Given the description of an element on the screen output the (x, y) to click on. 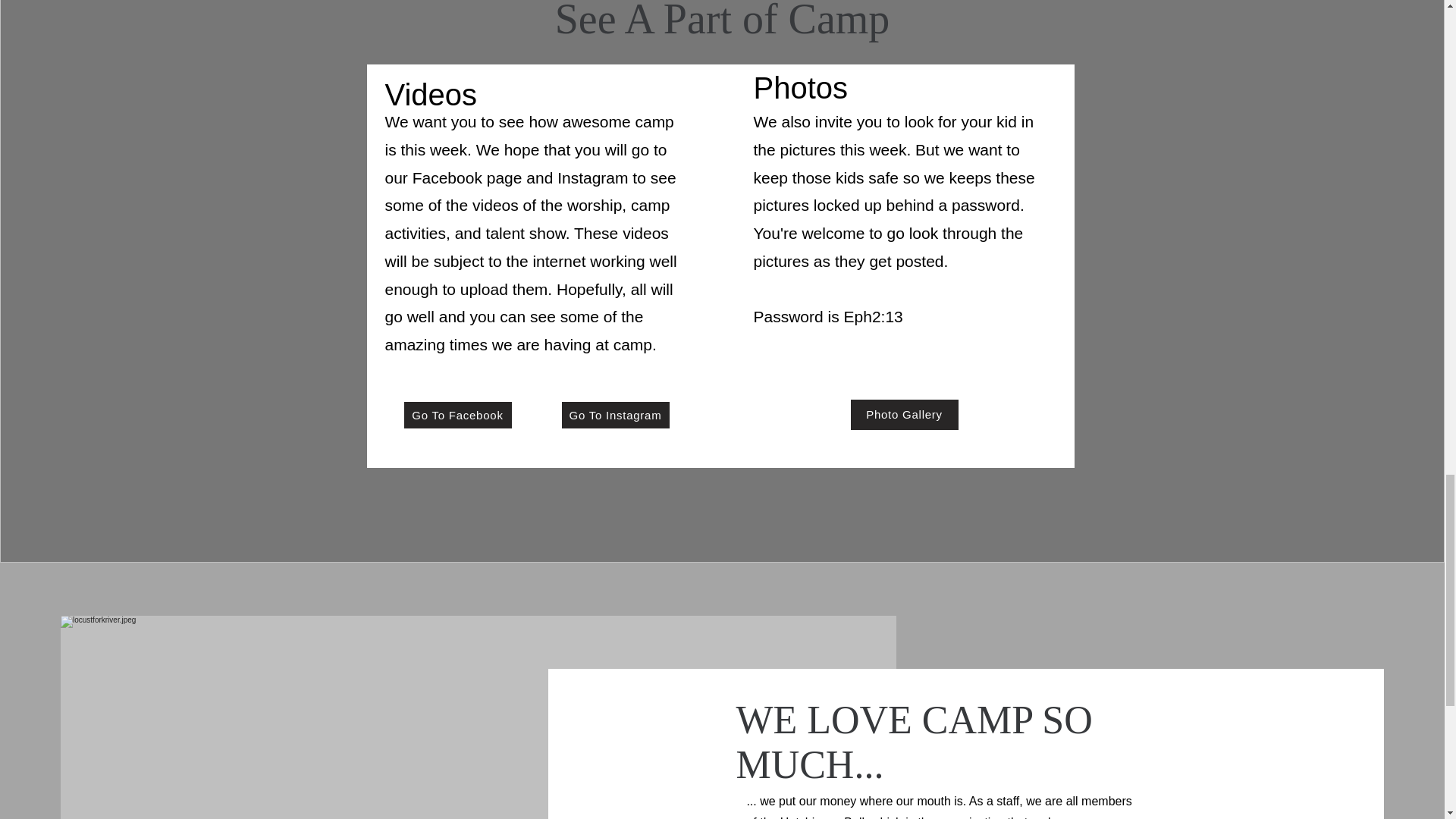
Go To Facebook (457, 415)
Photo Gallery (904, 414)
Go To Instagram (614, 415)
